Given the description of an element on the screen output the (x, y) to click on. 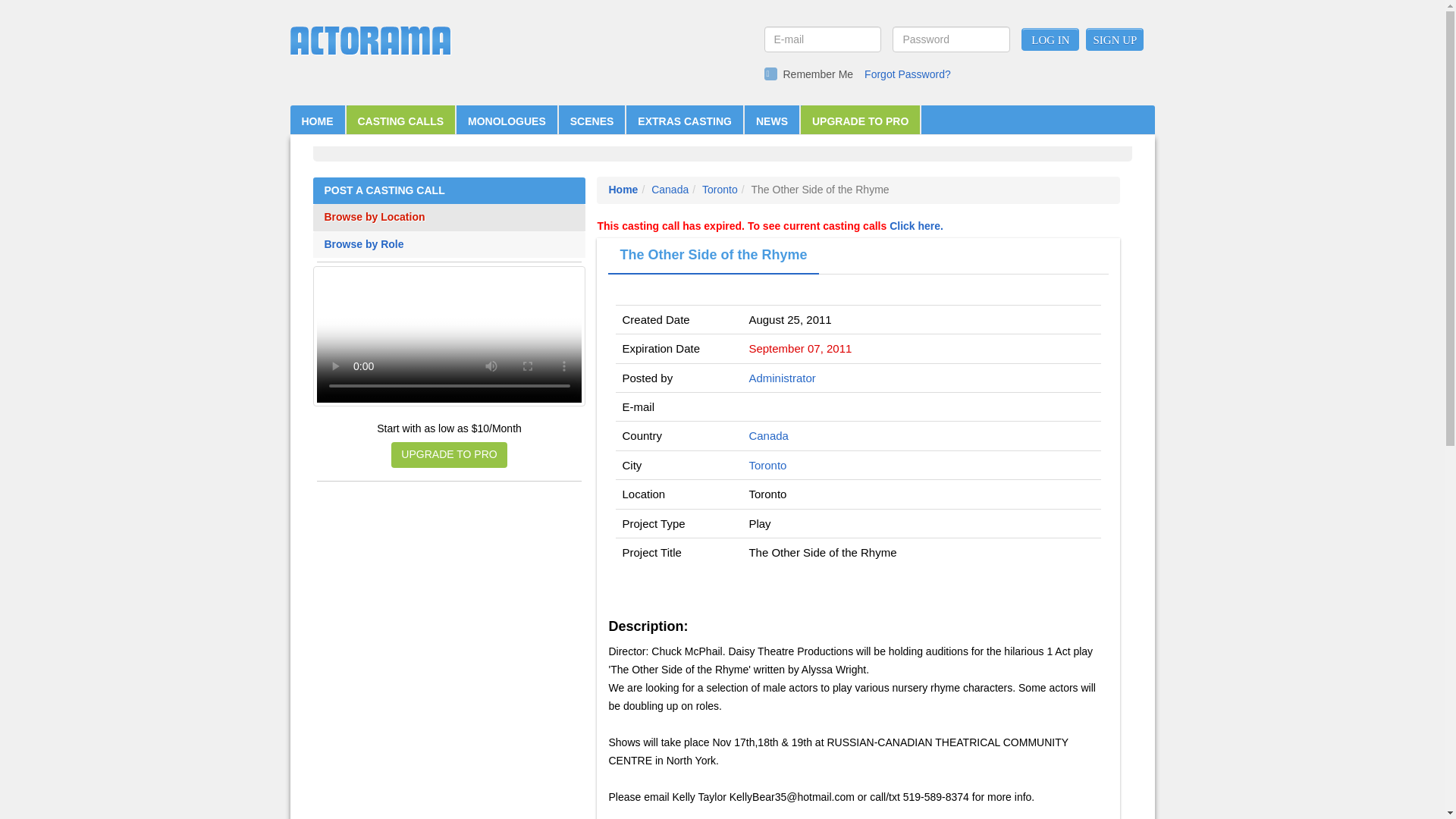
Browse by Role (449, 244)
UPGRADE TO PRO (449, 454)
LOG IN (1050, 38)
UPGRADE TO PRO (860, 121)
Browse by Location (449, 216)
Toronto (719, 189)
The Other Side of the Rhyme (713, 256)
Toronto (767, 464)
Actorama (369, 40)
HOME (316, 121)
POST A CASTING CALL (449, 190)
Home (622, 189)
Forgot Password? (907, 73)
CASTING CALLS (400, 121)
EXTRAS CASTING (684, 121)
